Given the description of an element on the screen output the (x, y) to click on. 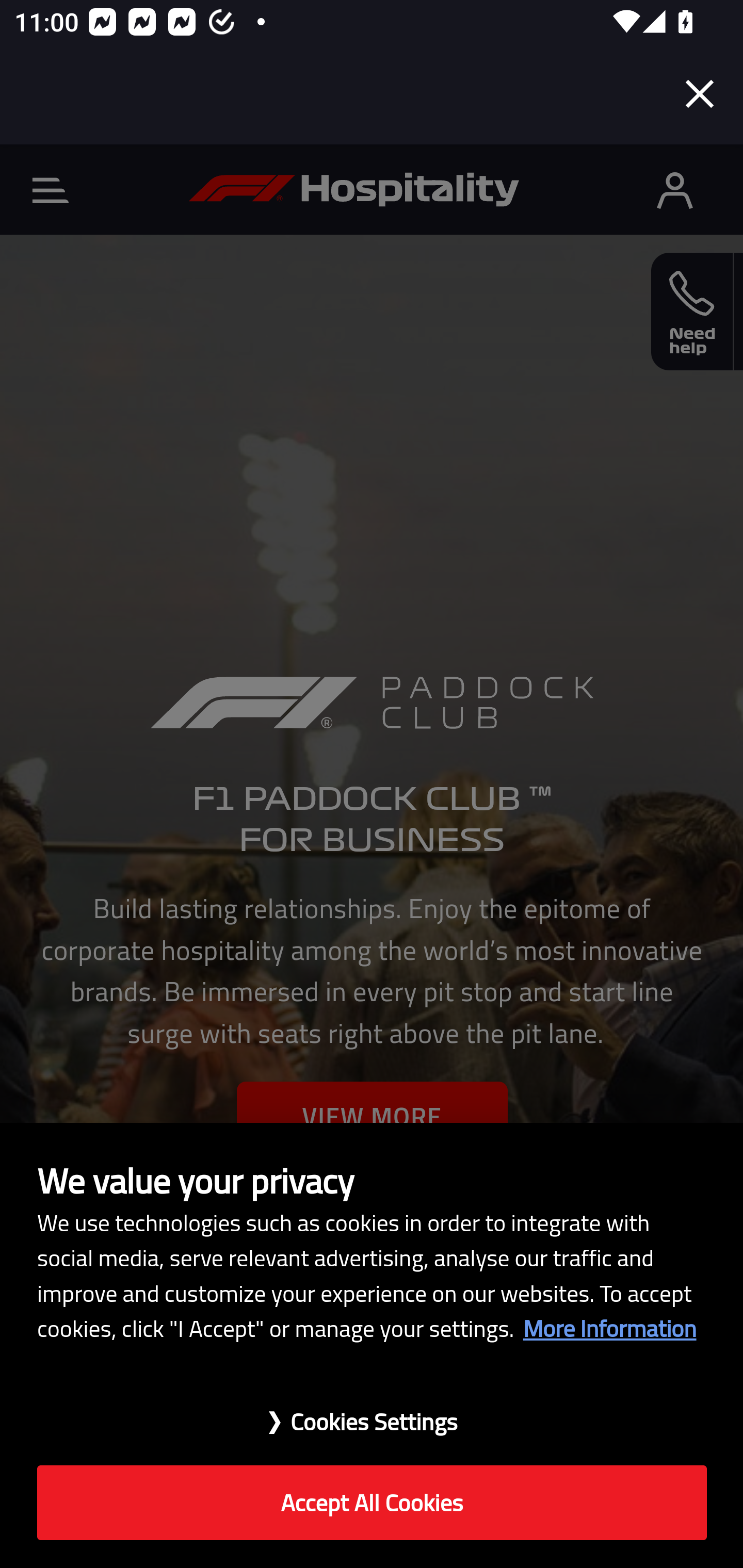
Close (699, 93)
More Information (608, 1327)
❯Cookies Settings (372, 1411)
Accept All Cookies (372, 1502)
